Given the description of an element on the screen output the (x, y) to click on. 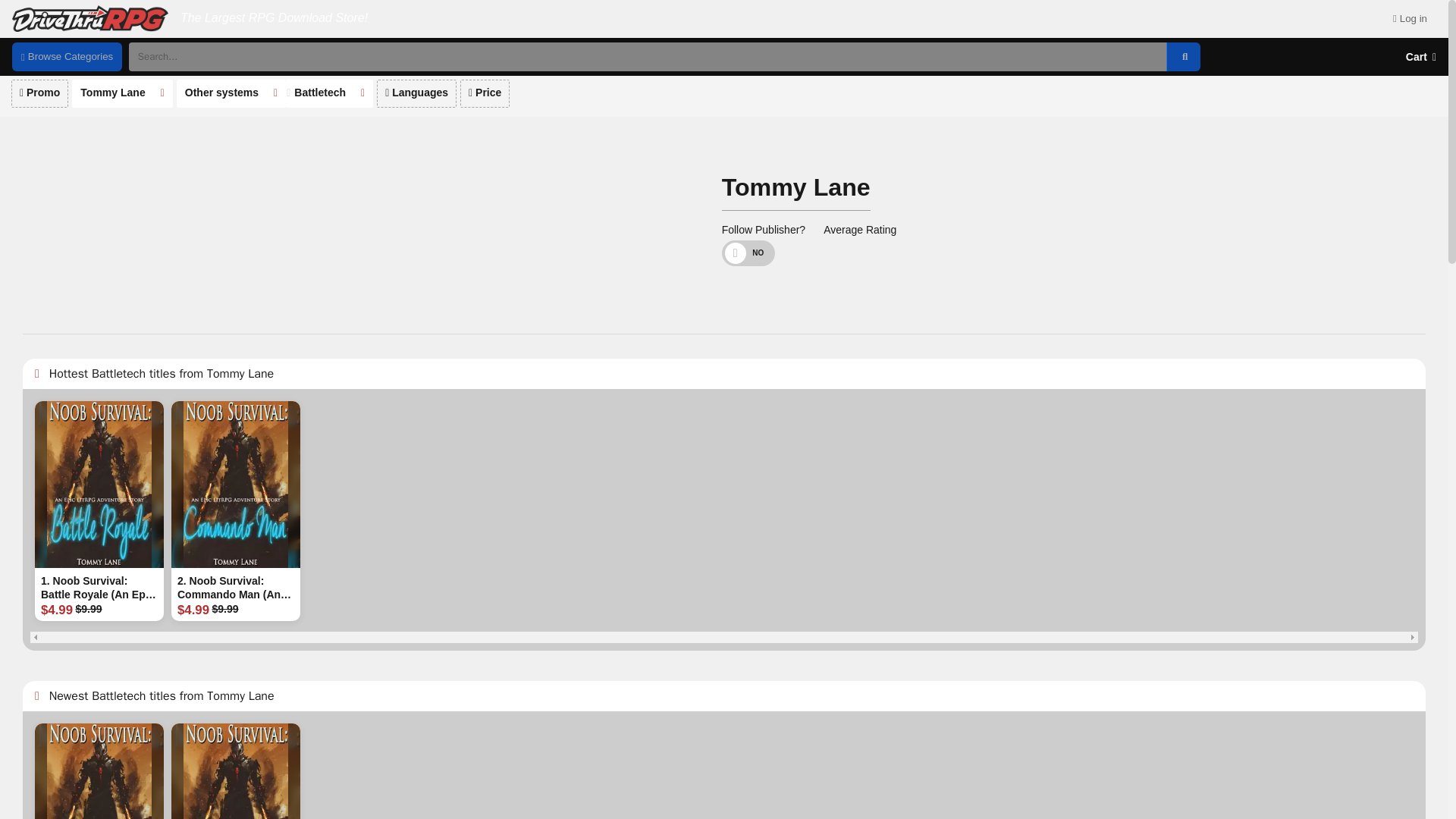
Battletech (320, 92)
 Languages (416, 92)
 Price (484, 92)
Search (1182, 56)
Other systems (221, 92)
 Promo (39, 92)
Log in (1409, 18)
Tommy Lane (112, 92)
Search (1184, 56)
Cart (1420, 57)
